Given the description of an element on the screen output the (x, y) to click on. 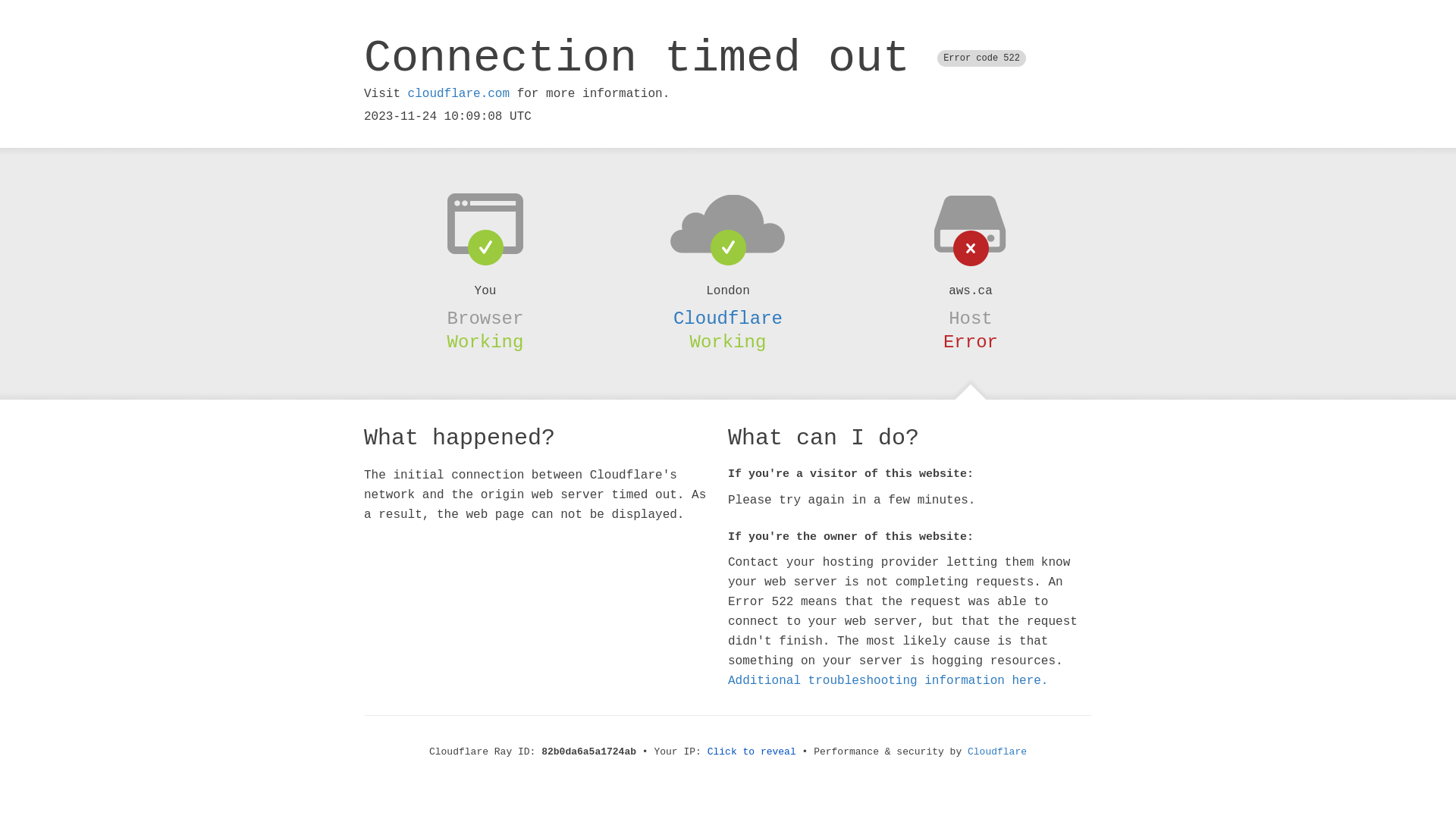
Cloudflare Element type: text (996, 751)
Click to reveal Element type: text (751, 751)
cloudflare.com Element type: text (458, 93)
Cloudflare Element type: text (727, 318)
Additional troubleshooting information here. Element type: text (888, 680)
